Given the description of an element on the screen output the (x, y) to click on. 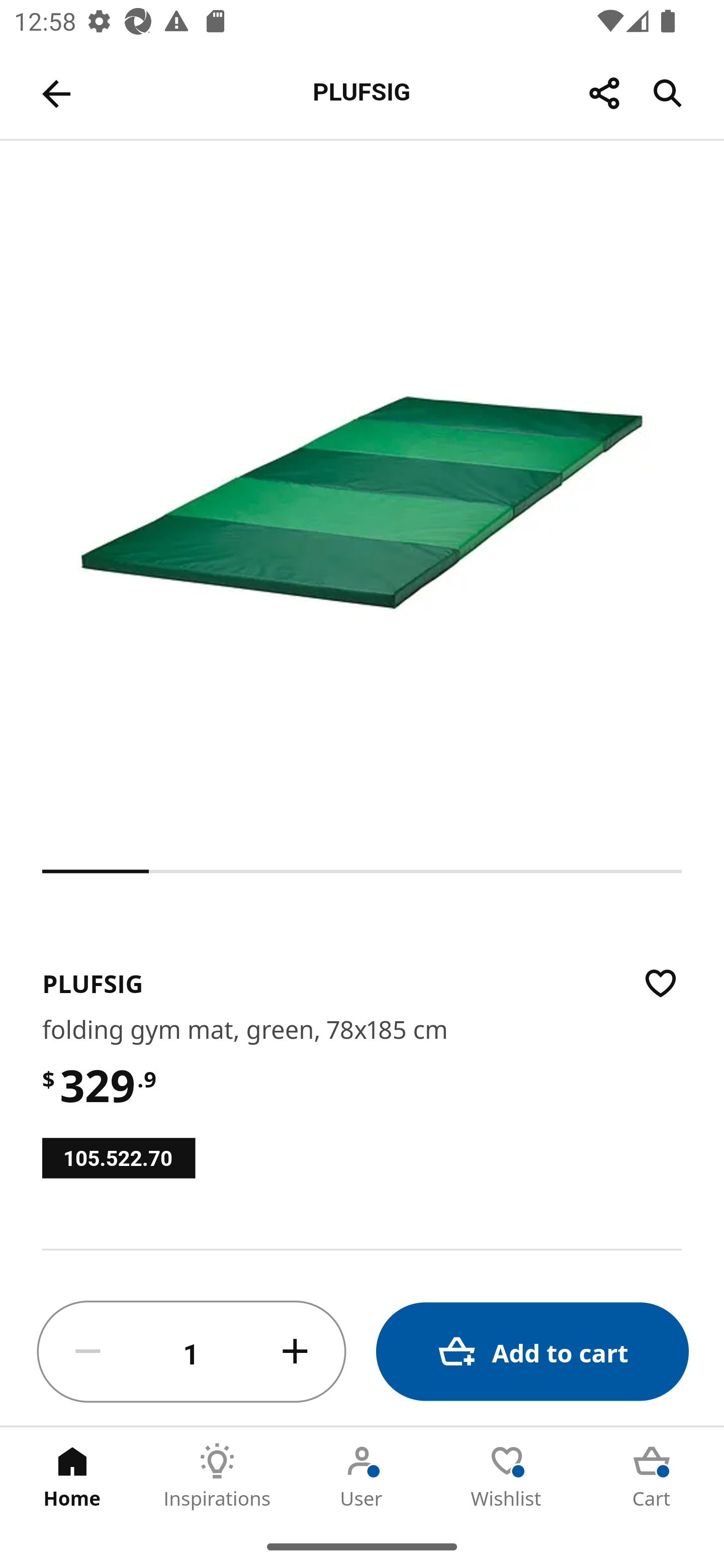
Add to cart (531, 1352)
1 (191, 1352)
Home
Tab 1 of 5 (72, 1476)
Inspirations
Tab 2 of 5 (216, 1476)
User
Tab 3 of 5 (361, 1476)
Wishlist
Tab 4 of 5 (506, 1476)
Cart
Tab 5 of 5 (651, 1476)
